Given the description of an element on the screen output the (x, y) to click on. 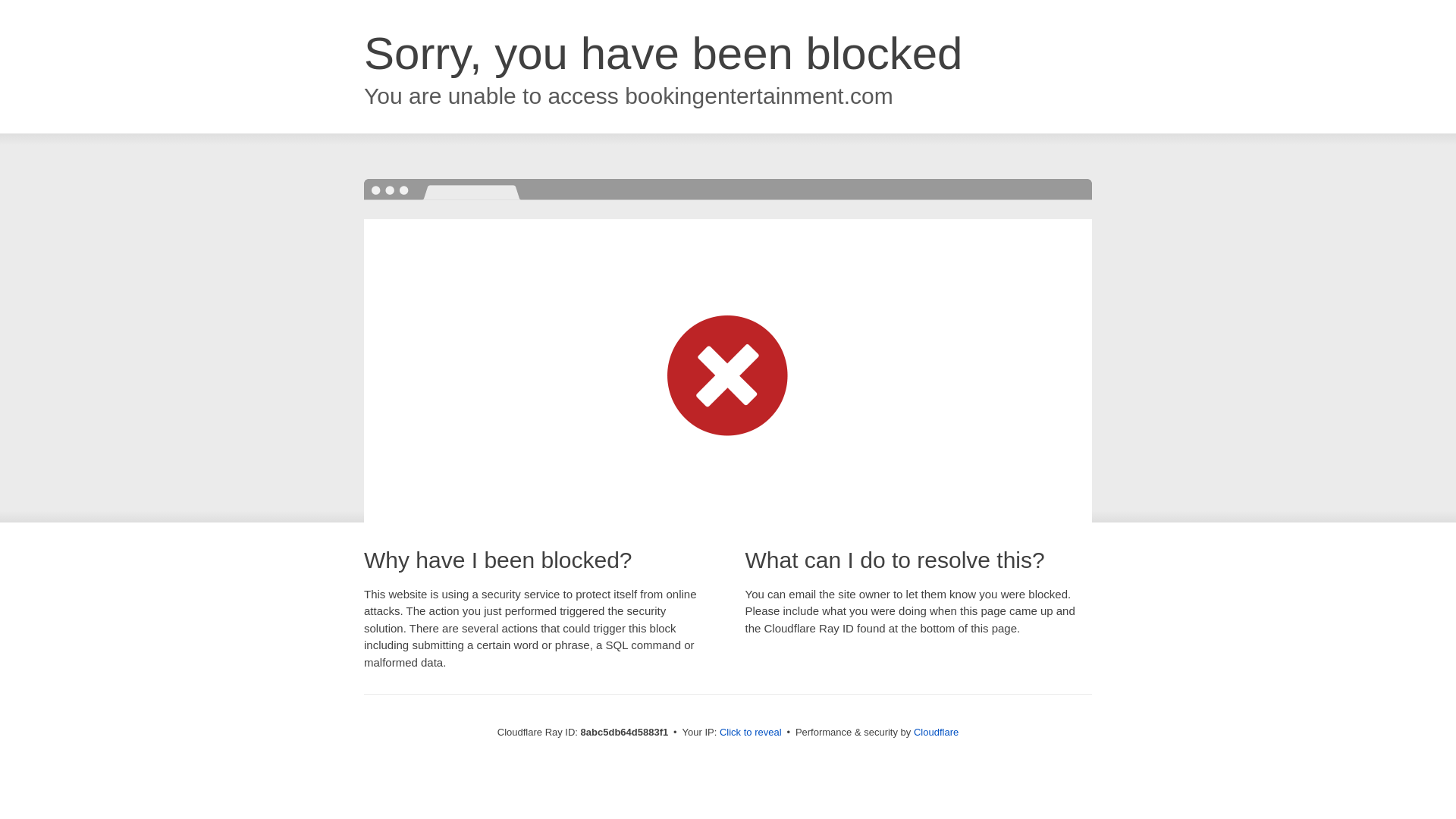
Cloudflare (936, 731)
Click to reveal (750, 732)
